Given the description of an element on the screen output the (x, y) to click on. 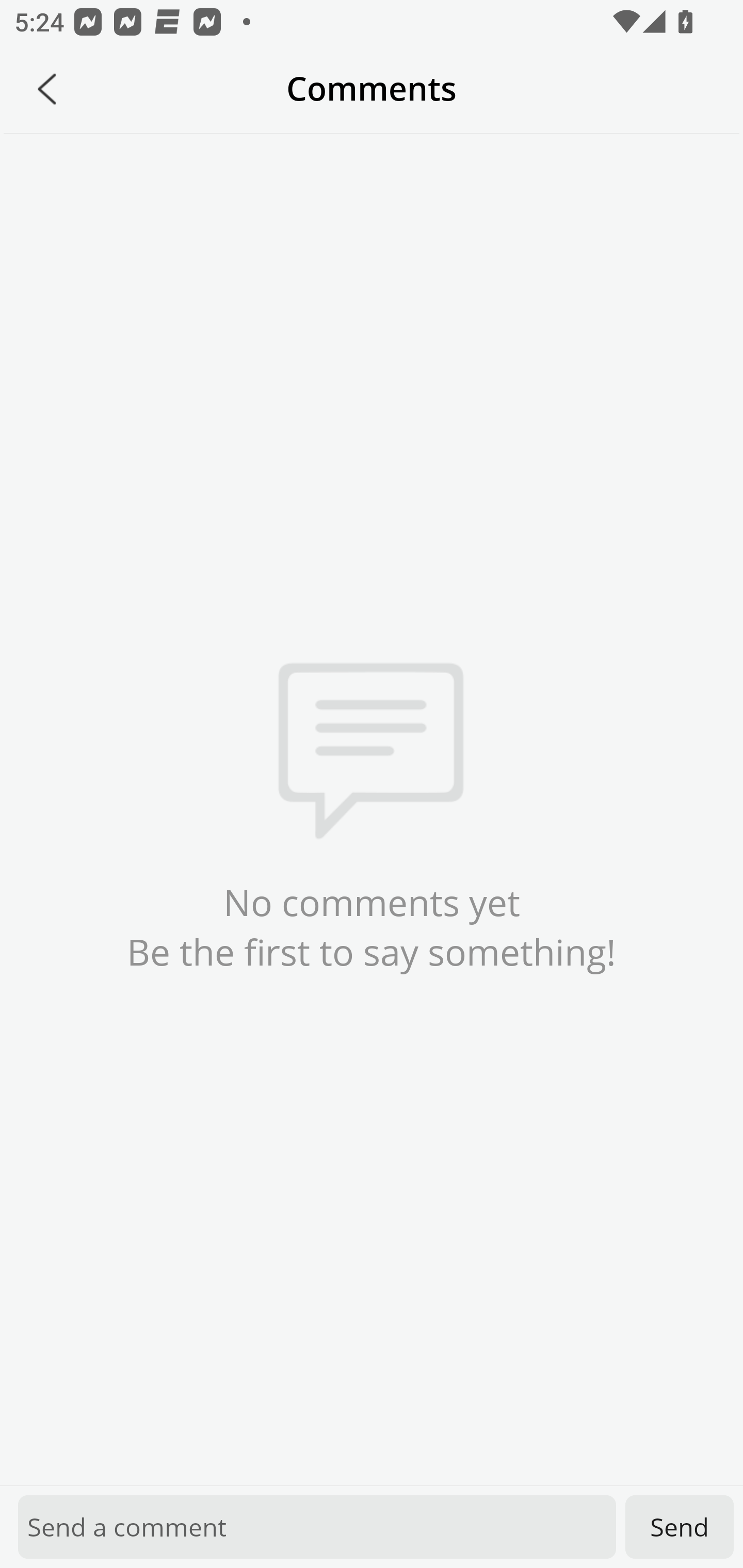
Back (46, 88)
Send a comment (316, 1526)
Send (679, 1526)
